Given the description of an element on the screen output the (x, y) to click on. 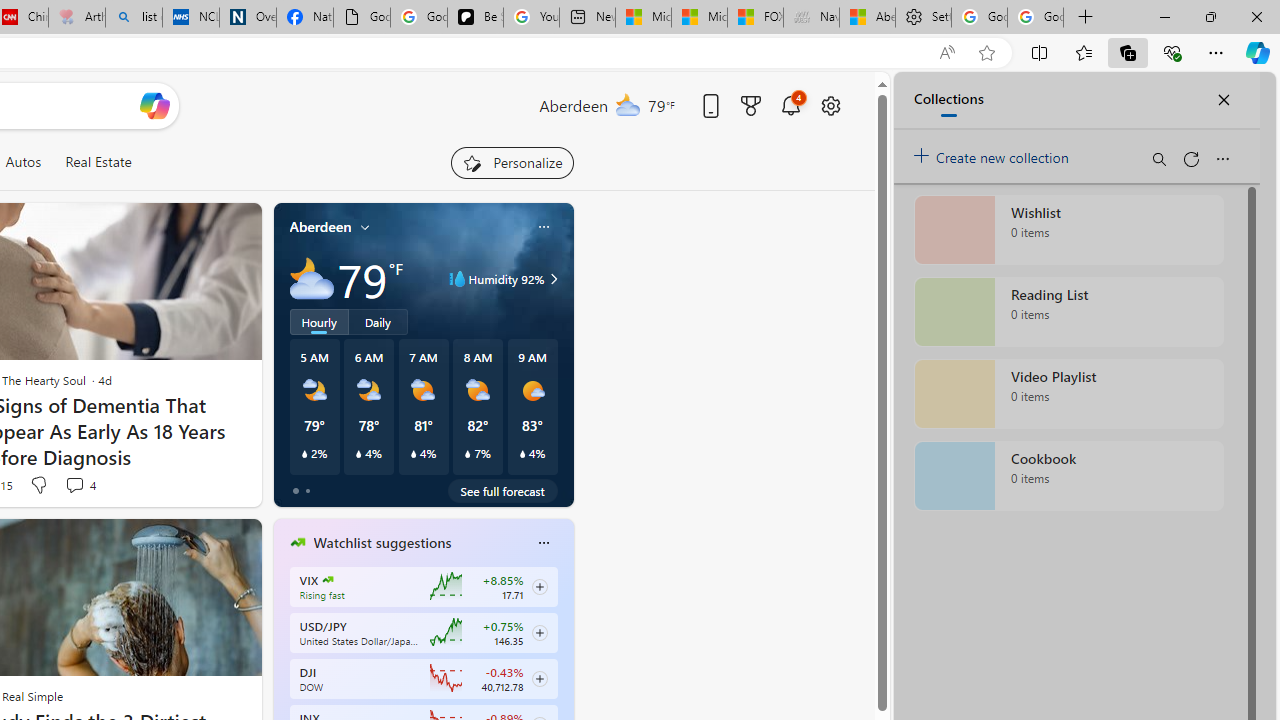
My location (365, 227)
FOX News - MSN (755, 17)
See full forecast (502, 490)
Be Smart | creating Science videos | Patreon (475, 17)
